Given the description of an element on the screen output the (x, y) to click on. 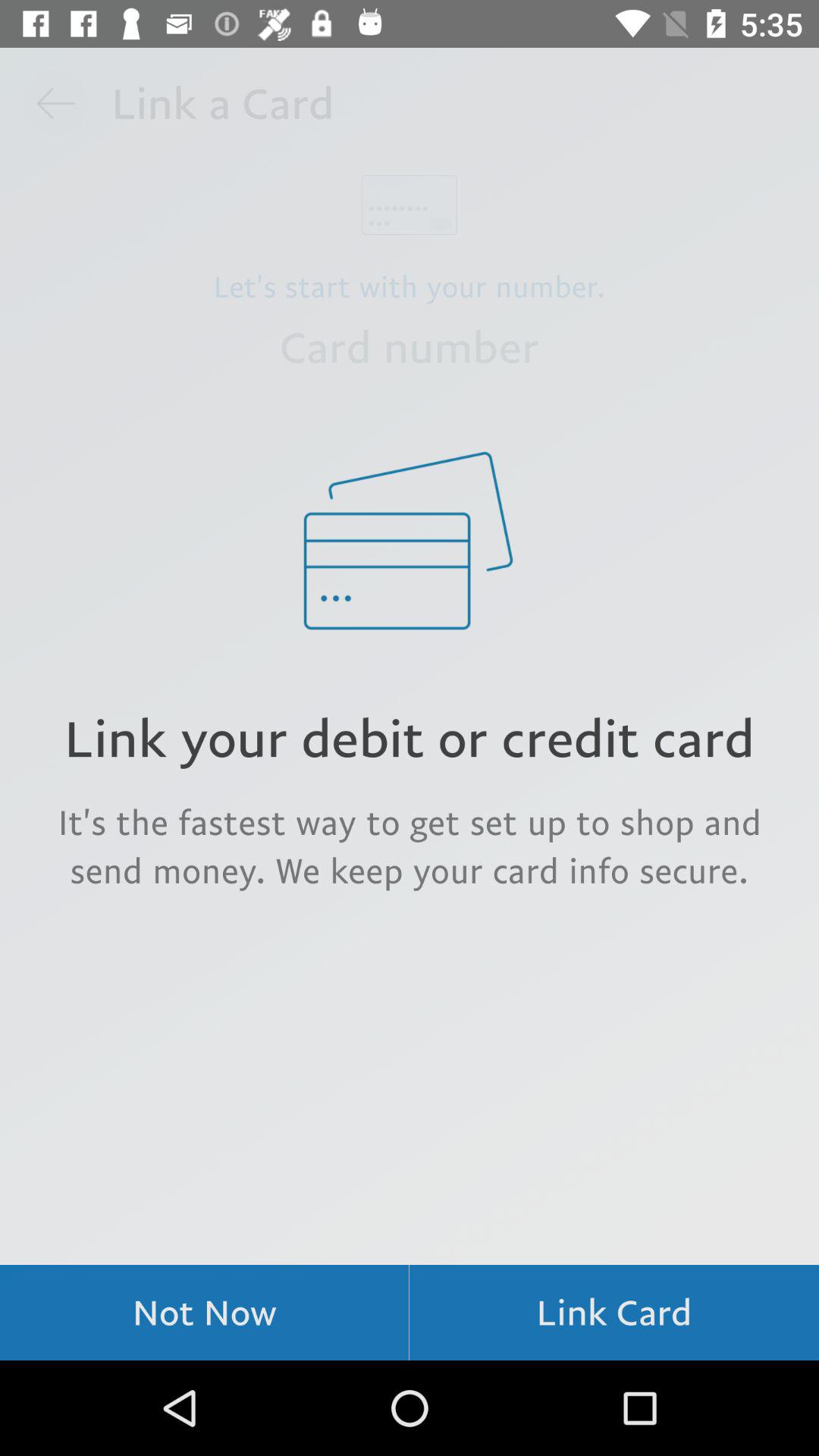
tap item below the it s the icon (204, 1312)
